Given the description of an element on the screen output the (x, y) to click on. 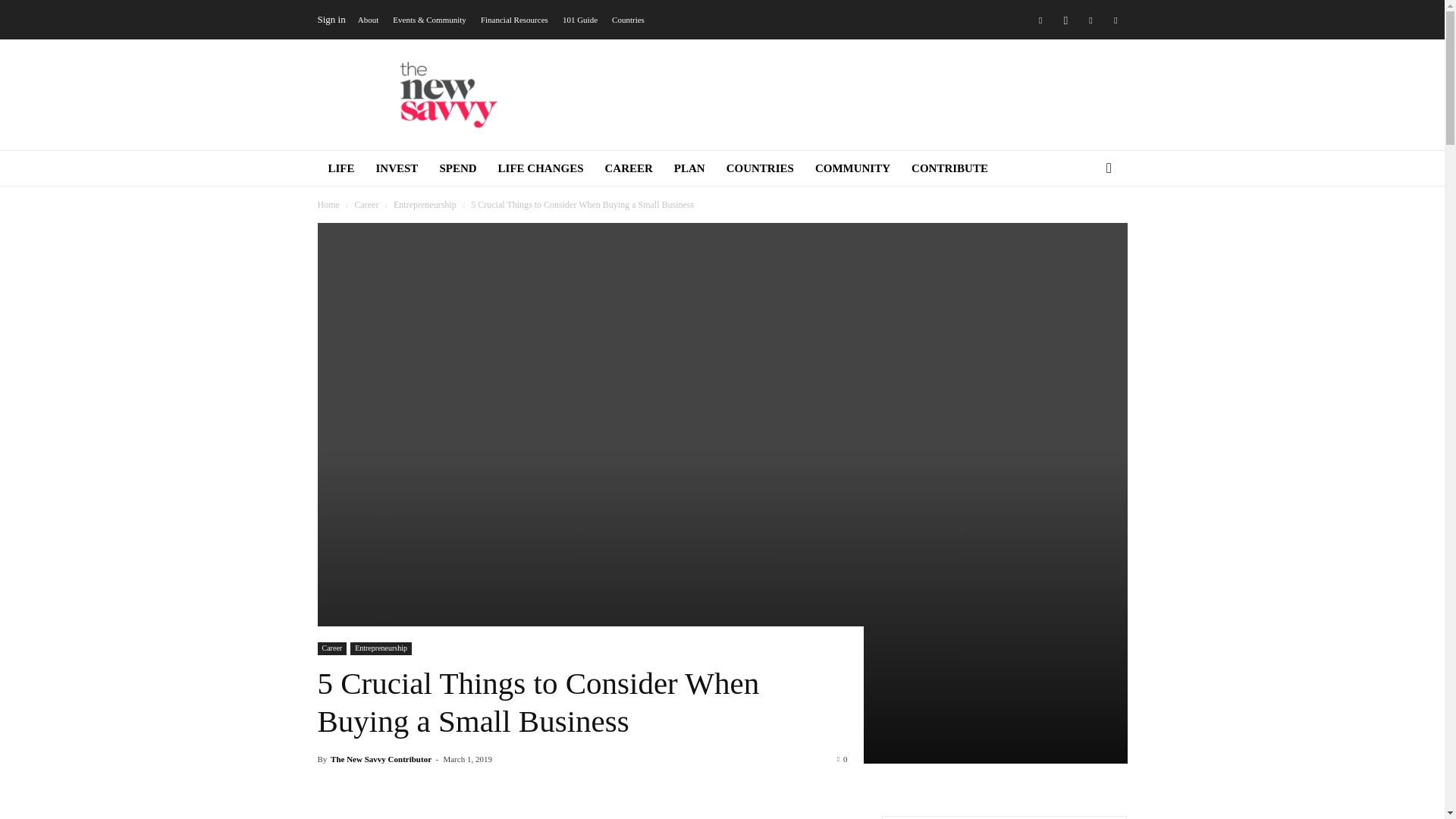
Facebook (1040, 19)
Instagram (1065, 19)
Linkedin (1090, 19)
Pinterest (1114, 19)
